Given the description of an element on the screen output the (x, y) to click on. 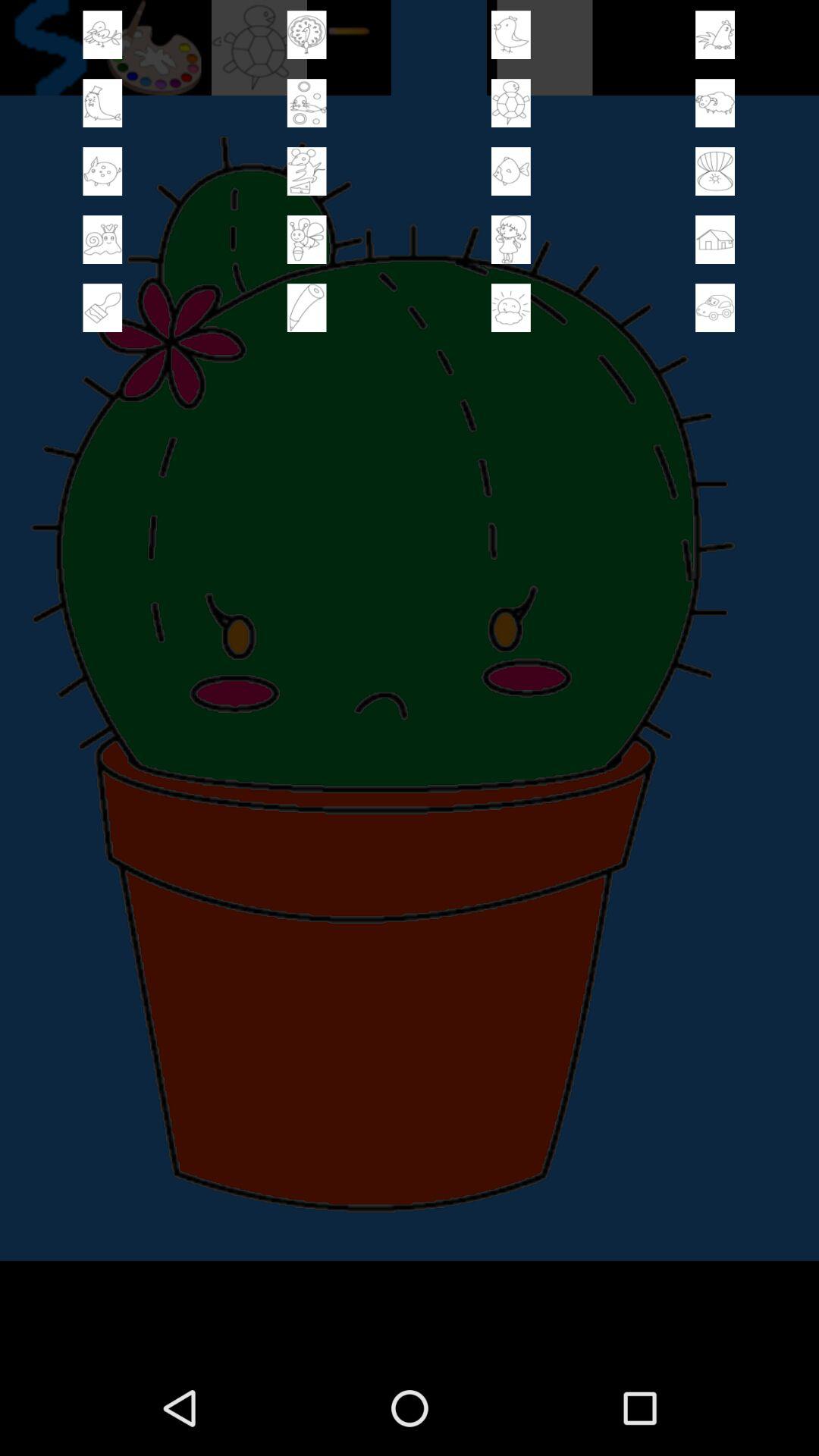
add sticker (715, 34)
